Given the description of an element on the screen output the (x, y) to click on. 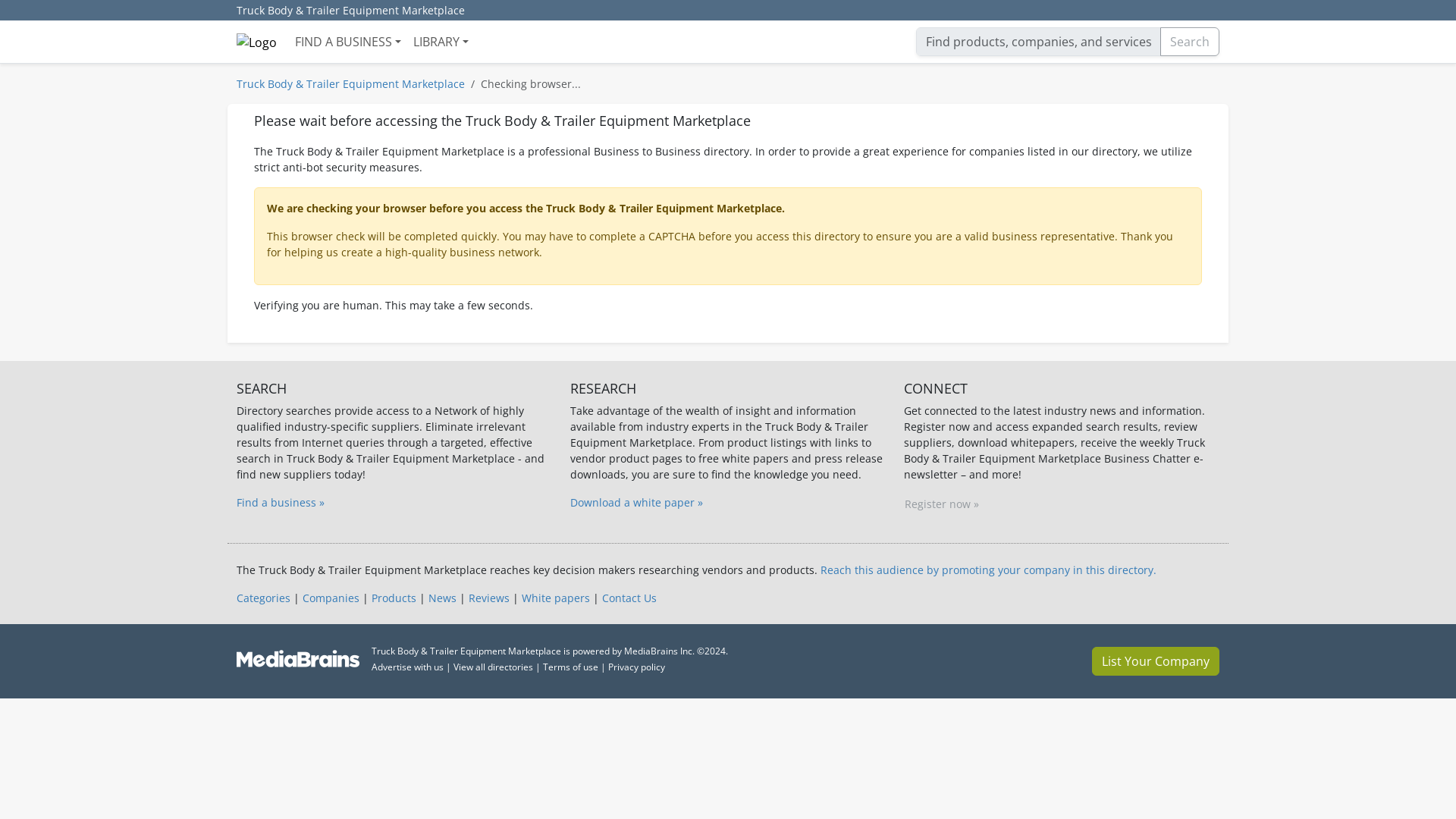
List Your Company (1156, 661)
View all directories (492, 666)
Contact Us (629, 597)
Search (1190, 41)
LIBRARY (440, 41)
White papers (555, 597)
Products (393, 597)
Advertise with us (407, 666)
FIND A BUSINESS (347, 41)
